Given the description of an element on the screen output the (x, y) to click on. 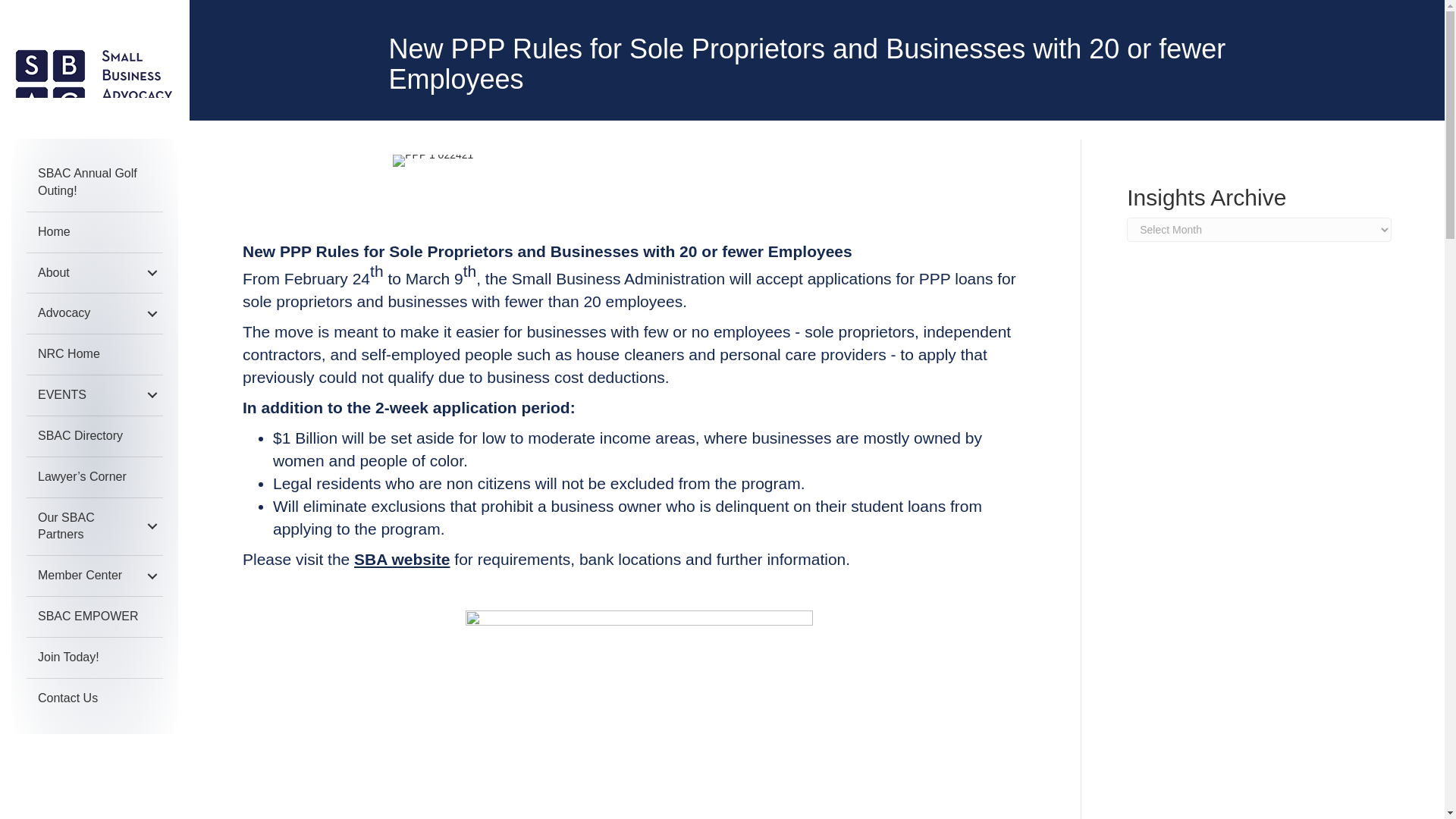
Advocacy (94, 313)
SBAC EMPOWER (94, 617)
sbac-logo-sm (94, 84)
SBA website (401, 559)
About (94, 273)
Home (94, 232)
Join Today! (94, 658)
Contact Us (94, 698)
Our SBAC Partners (94, 526)
Member Center (94, 576)
